Given the description of an element on the screen output the (x, y) to click on. 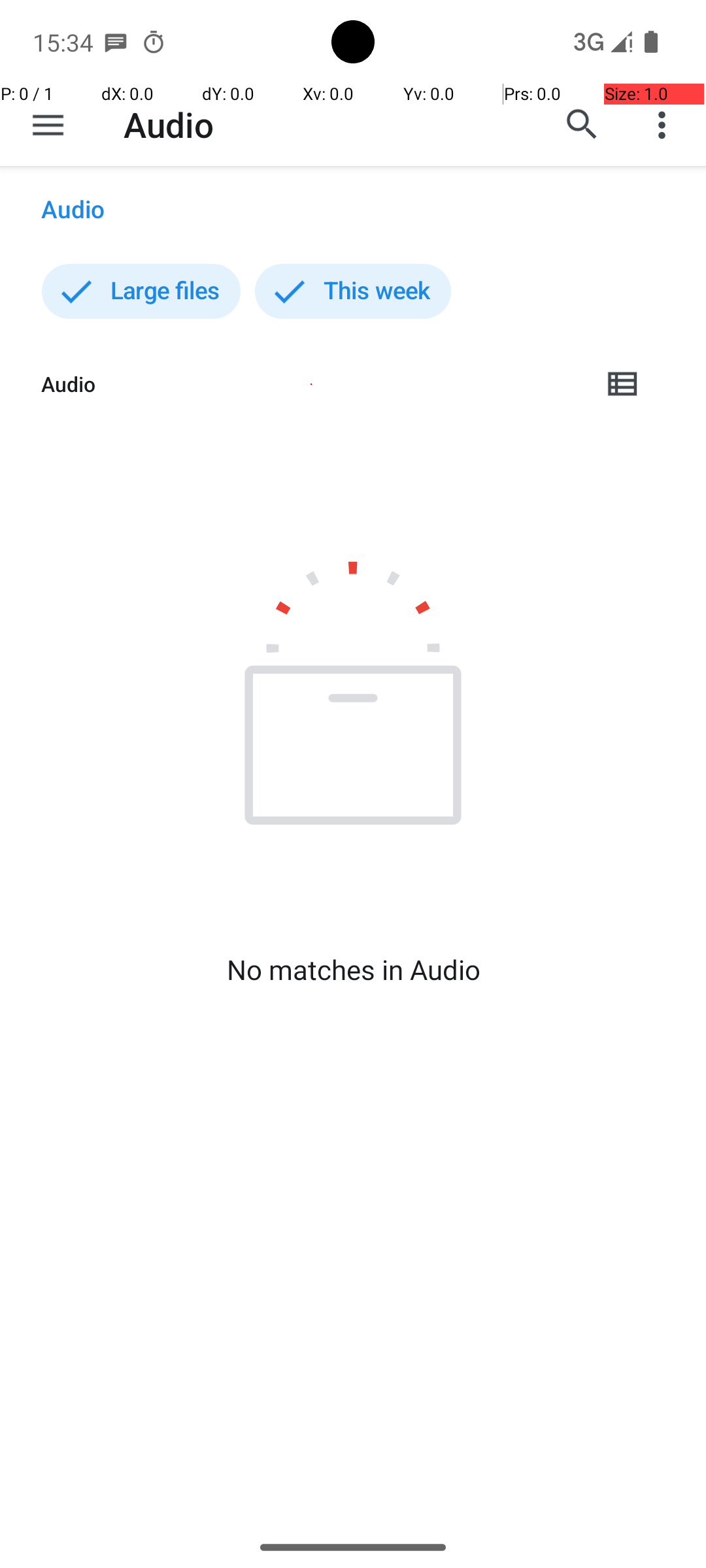
No matches in Audio Element type: android.widget.TextView (352, 968)
